Given the description of an element on the screen output the (x, y) to click on. 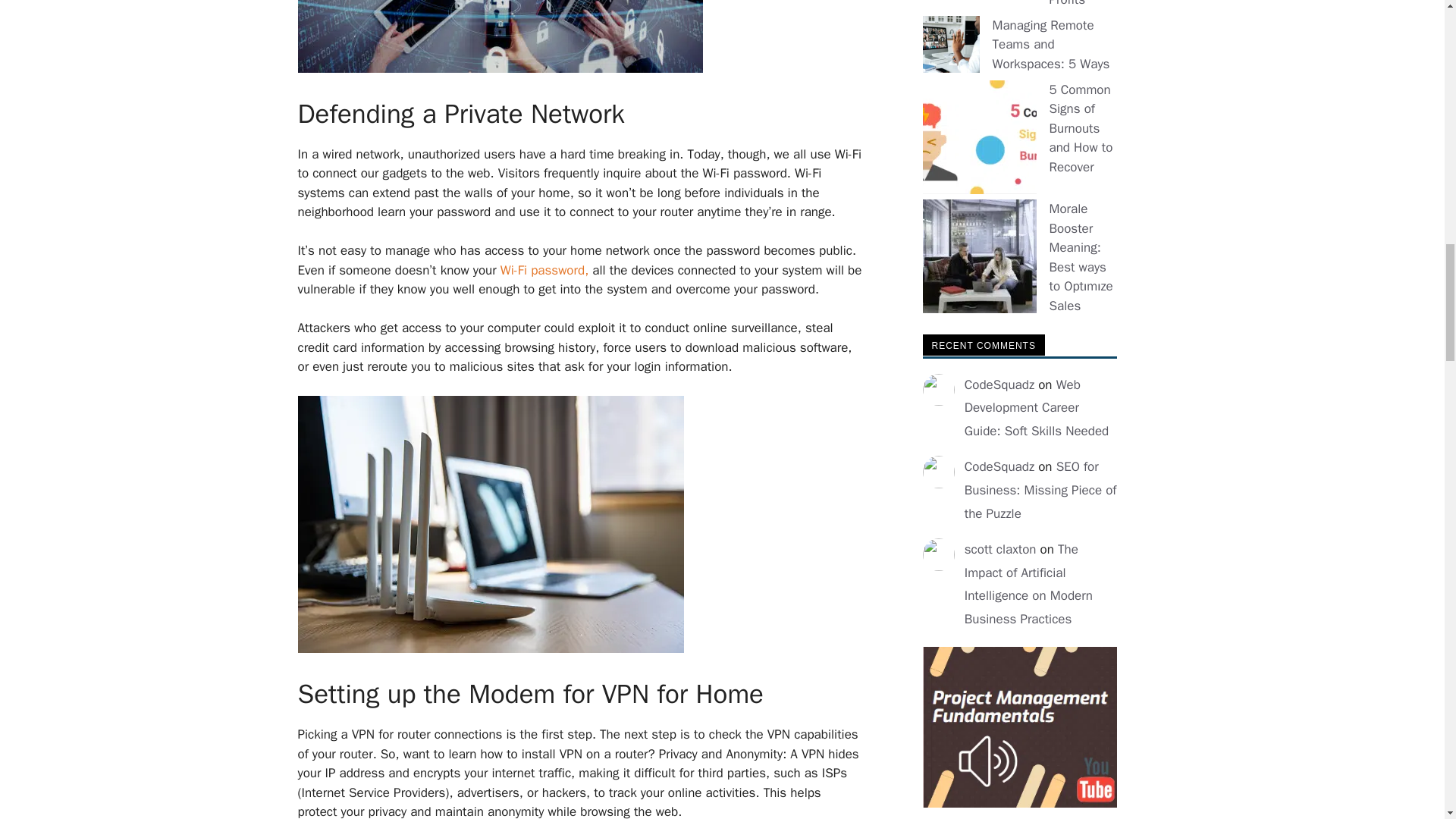
Defend Your Home Network With A Vpn For Home 3 (489, 523)
Defend Your Home Network With A Vpn For Home 2 (499, 68)
